Given the description of an element on the screen output the (x, y) to click on. 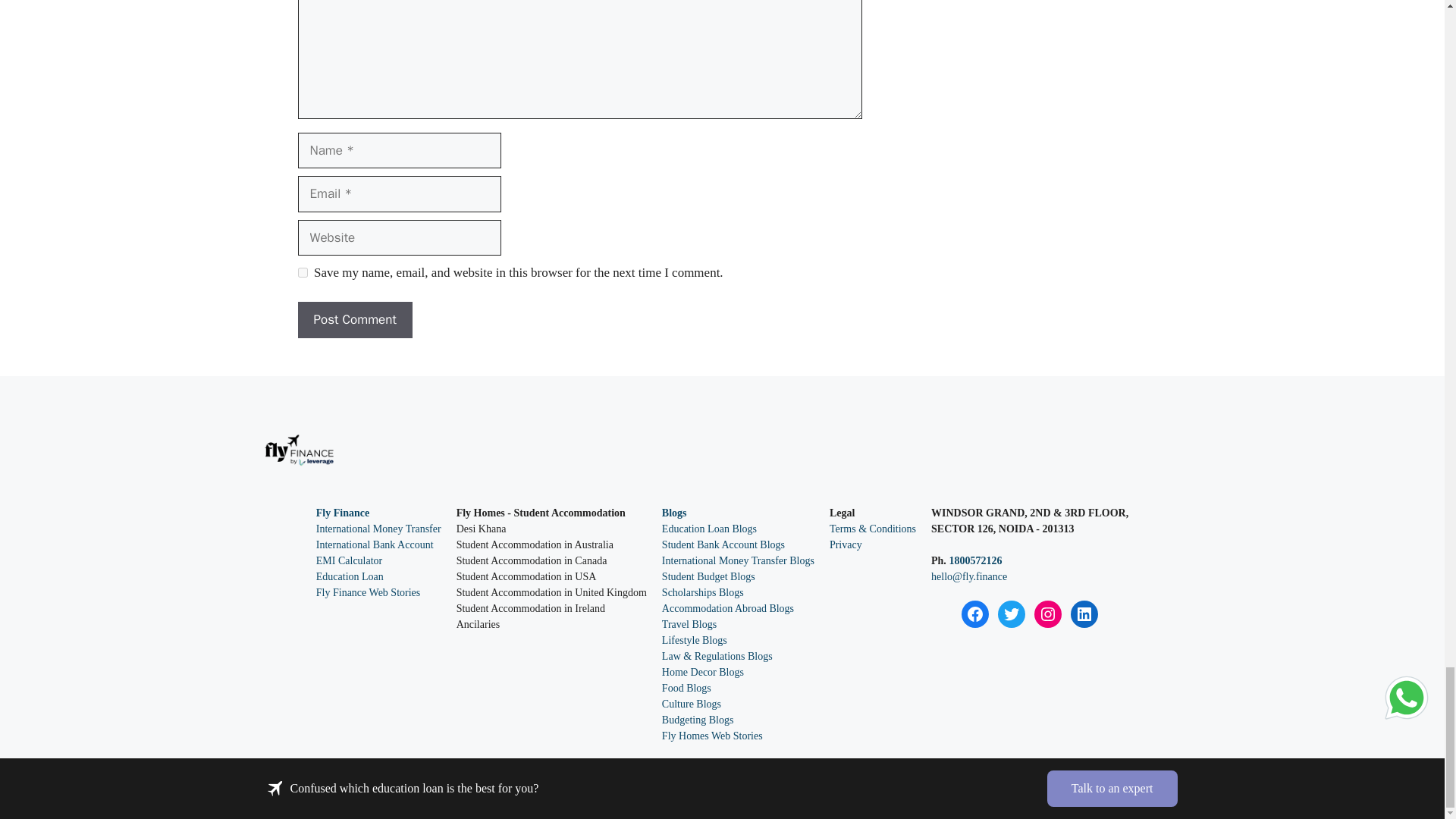
yes (302, 272)
Post Comment (354, 320)
